Given the description of an element on the screen output the (x, y) to click on. 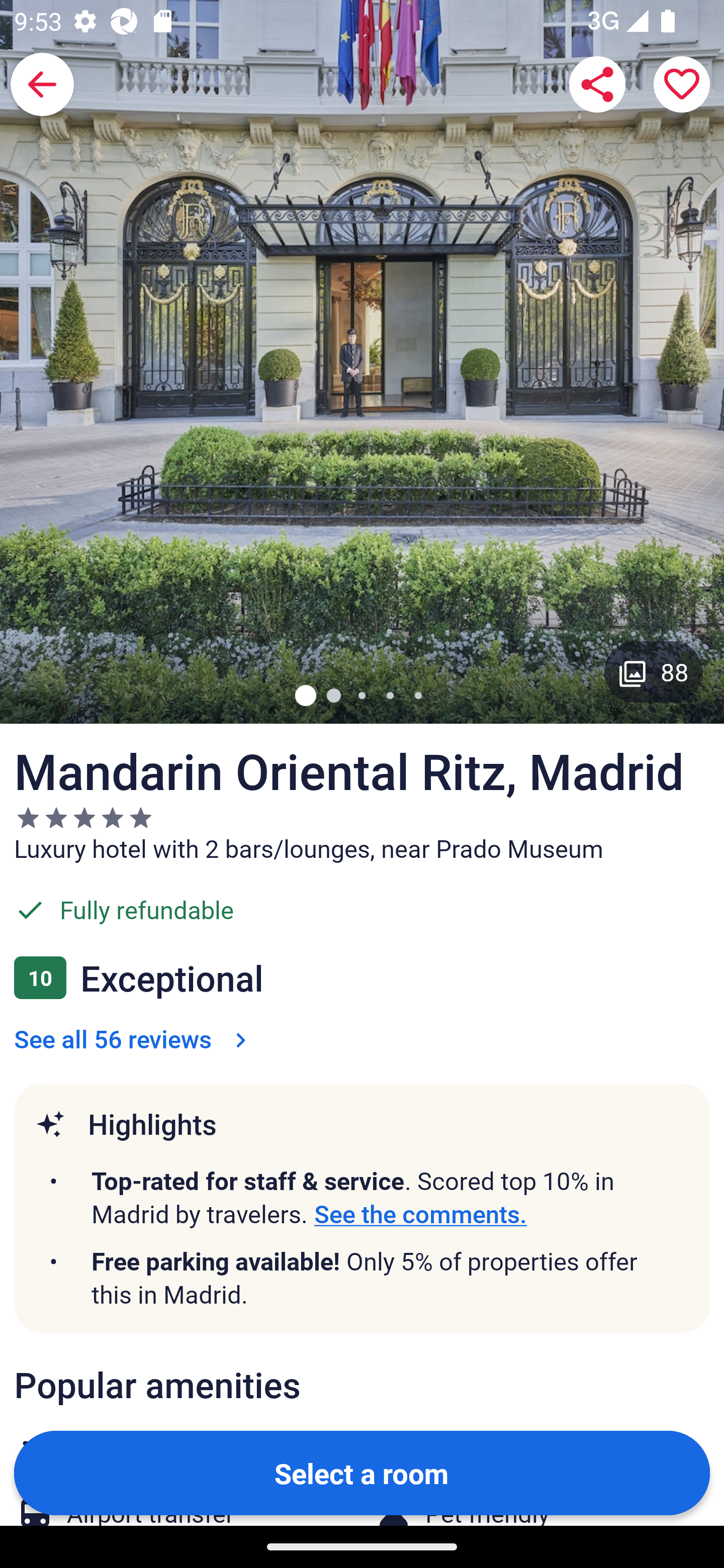
Back (42, 84)
Save property to a trip (681, 84)
Share Mandarin Oriental Ritz, Madrid (597, 84)
Gallery button with 88 images (653, 671)
See all 56 reviews See all 56 reviews Link (133, 1038)
Select a room Button Select a room (361, 1472)
